Given the description of an element on the screen output the (x, y) to click on. 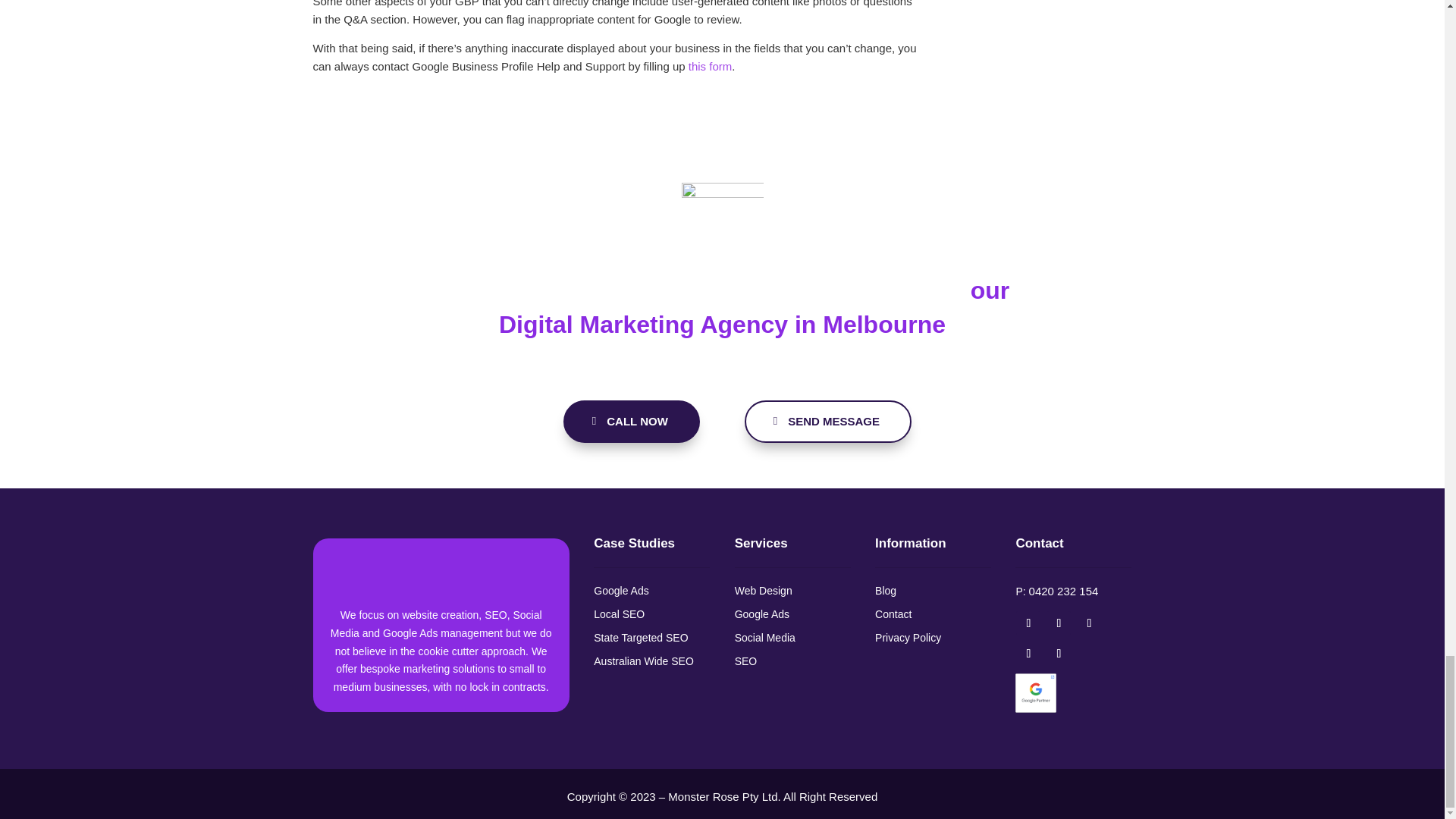
Follow on LinkedIn (1058, 622)
Follow on Facebook (1028, 622)
Follow on Google (1088, 622)
Follow on Pinterest (1028, 653)
Follow on Instagram (1058, 653)
